Given the description of an element on the screen output the (x, y) to click on. 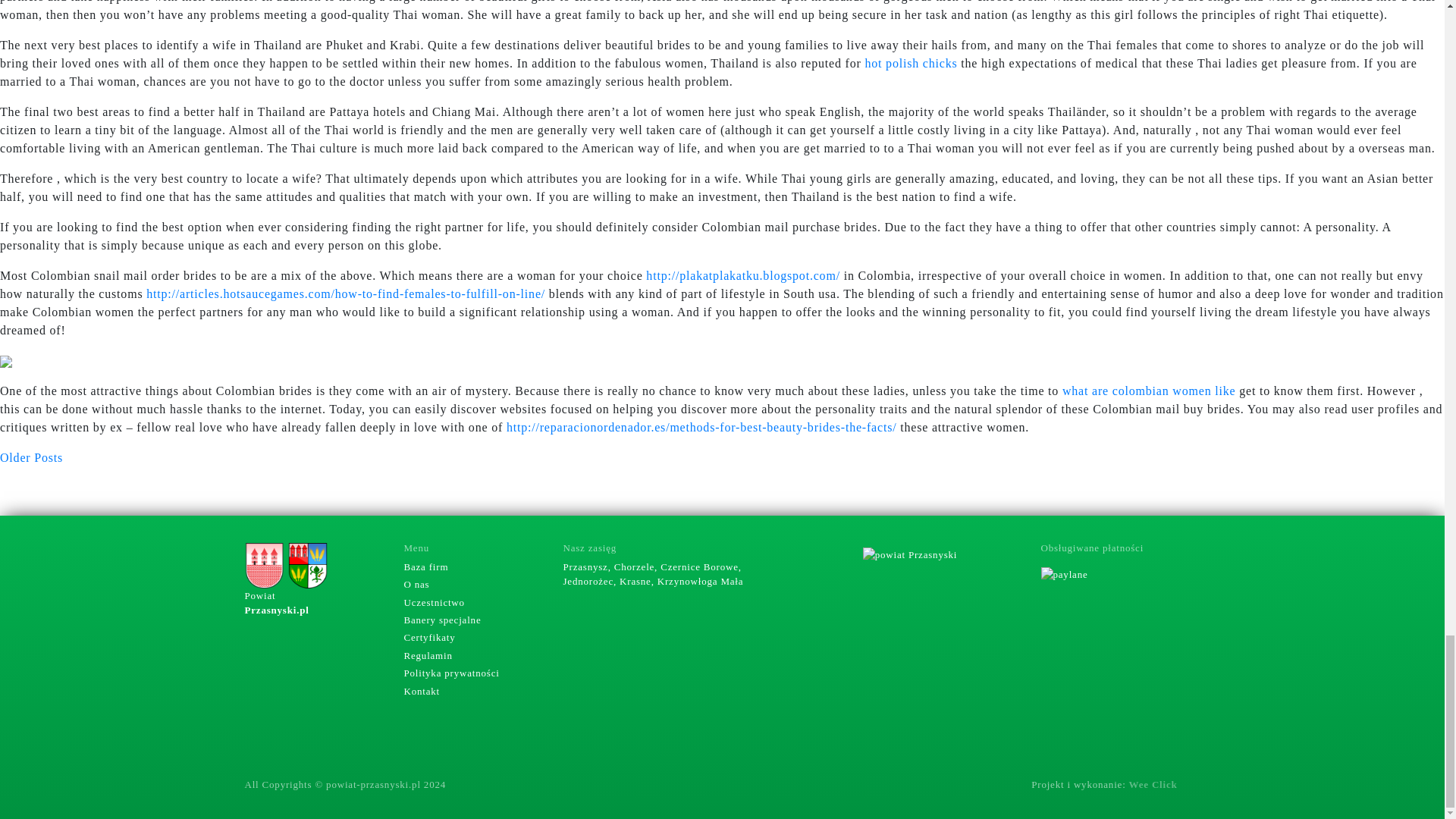
Banery specjalne (441, 619)
Wee Click (1153, 784)
Certyfikaty (428, 636)
O nas (416, 583)
Wee Click (1153, 784)
hot polish chicks (910, 62)
Regulamin (427, 655)
Uczestnictwo (433, 602)
Baza firm (425, 566)
Older Posts (31, 457)
powiat Przasnyski (910, 554)
Kontakt (421, 690)
what are colombian women like (1148, 390)
